Given the description of an element on the screen output the (x, y) to click on. 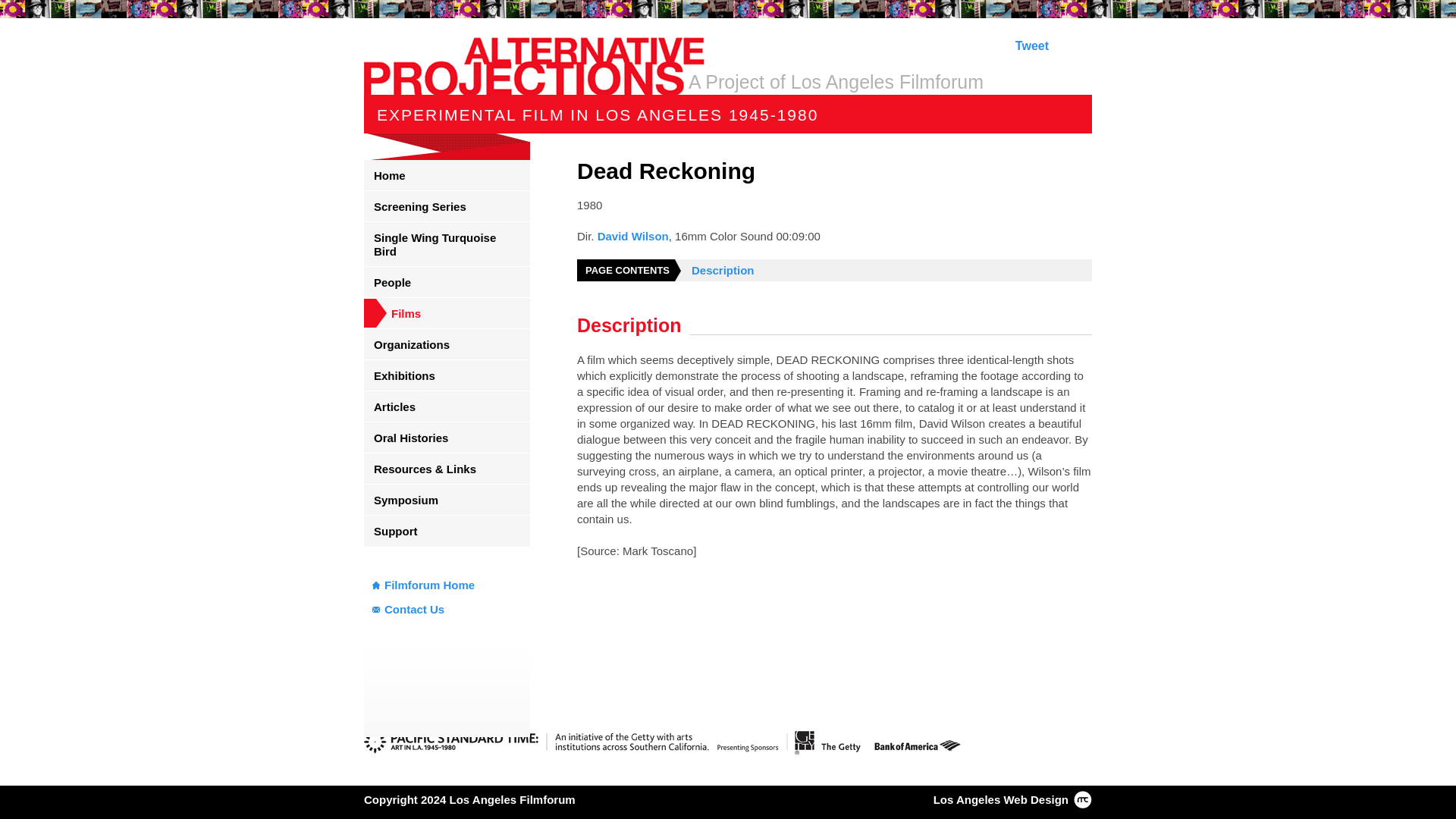
Go to the Exhibitions page (446, 375)
Go to the Articles page (446, 406)
Visit the Media Contour website. (1000, 799)
Exhibitions (446, 375)
Go to the Films page (446, 313)
Go to the Welcome to Alternative Projections page (446, 174)
David Wilson (632, 236)
Oral Histories (446, 437)
Screening Series (446, 205)
Single Wing Turquoise Bird (446, 243)
Home (446, 174)
Filmforum Home (446, 585)
Support (446, 530)
Films (446, 313)
Go to the Contact Us page (446, 609)
